Given the description of an element on the screen output the (x, y) to click on. 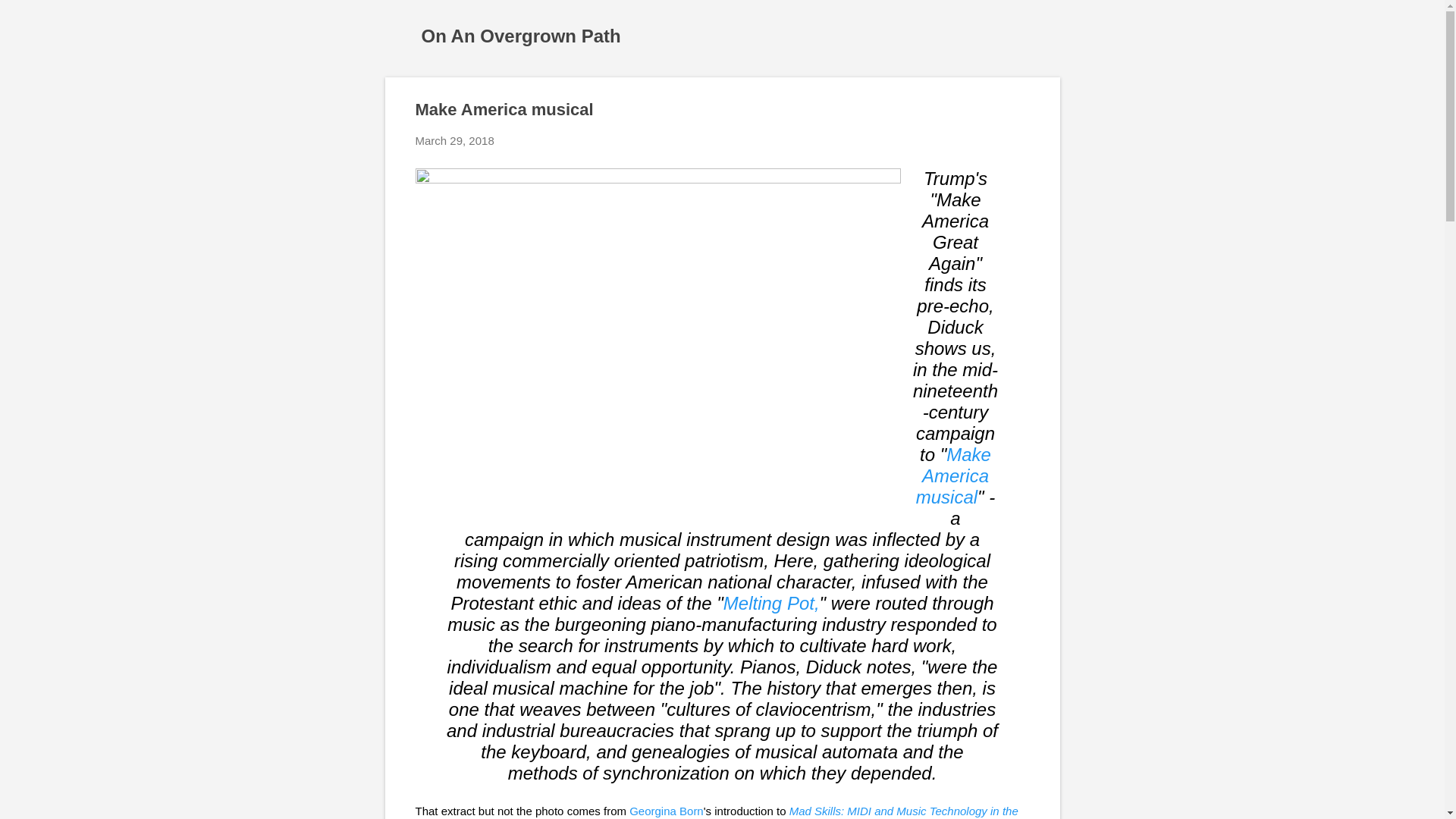
Melting Pot, (771, 602)
permanent link (454, 140)
Make America musical (953, 475)
Georgina Born (665, 810)
Search (29, 18)
On An Overgrown Path (521, 35)
March 29, 2018 (454, 140)
Mad Skills: MIDI and Music Technology in the 20th Century (715, 811)
